Given the description of an element on the screen output the (x, y) to click on. 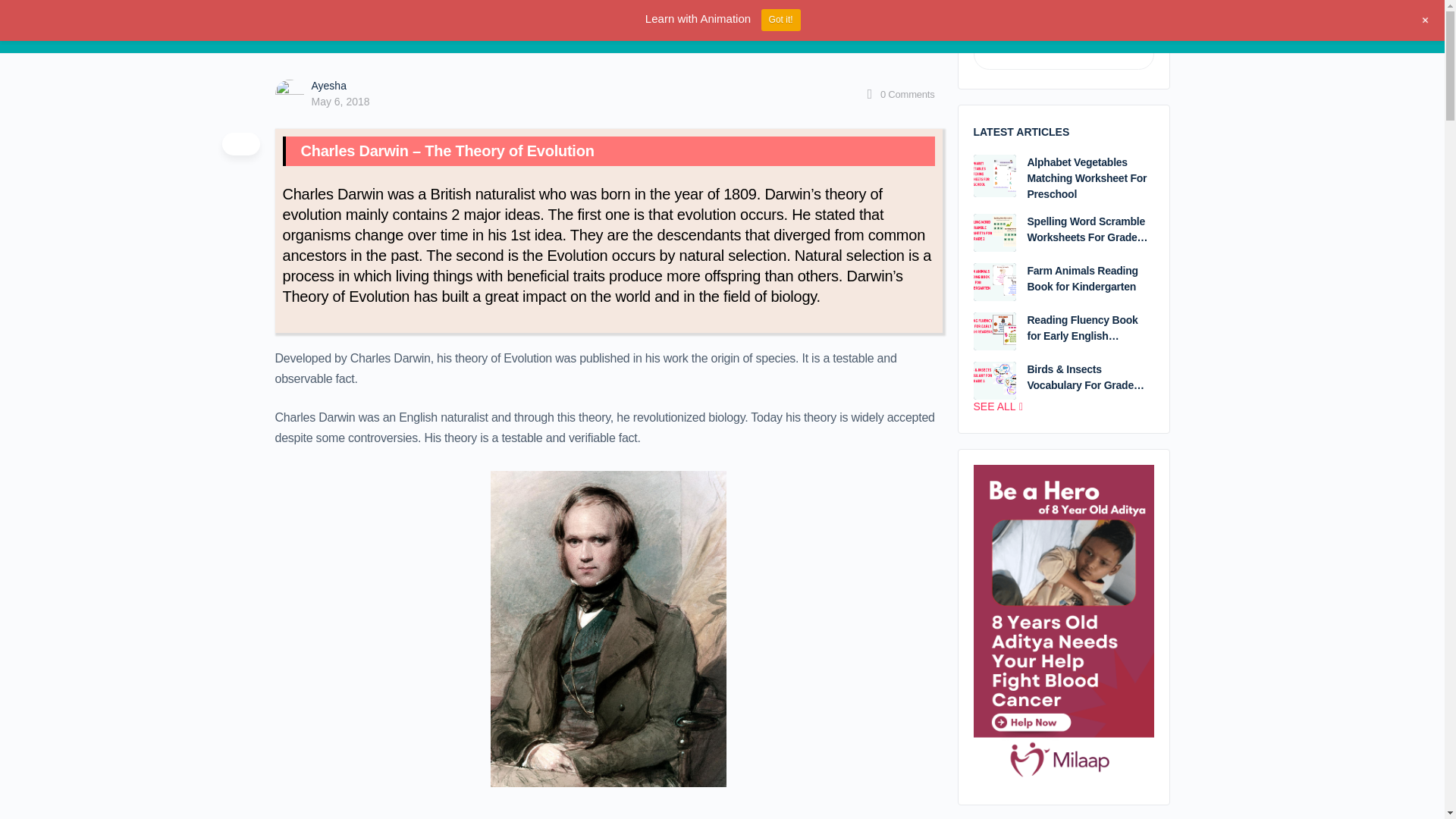
Community (432, 26)
Sign in (1144, 26)
FREE Worksheets (515, 26)
